Given the description of an element on the screen output the (x, y) to click on. 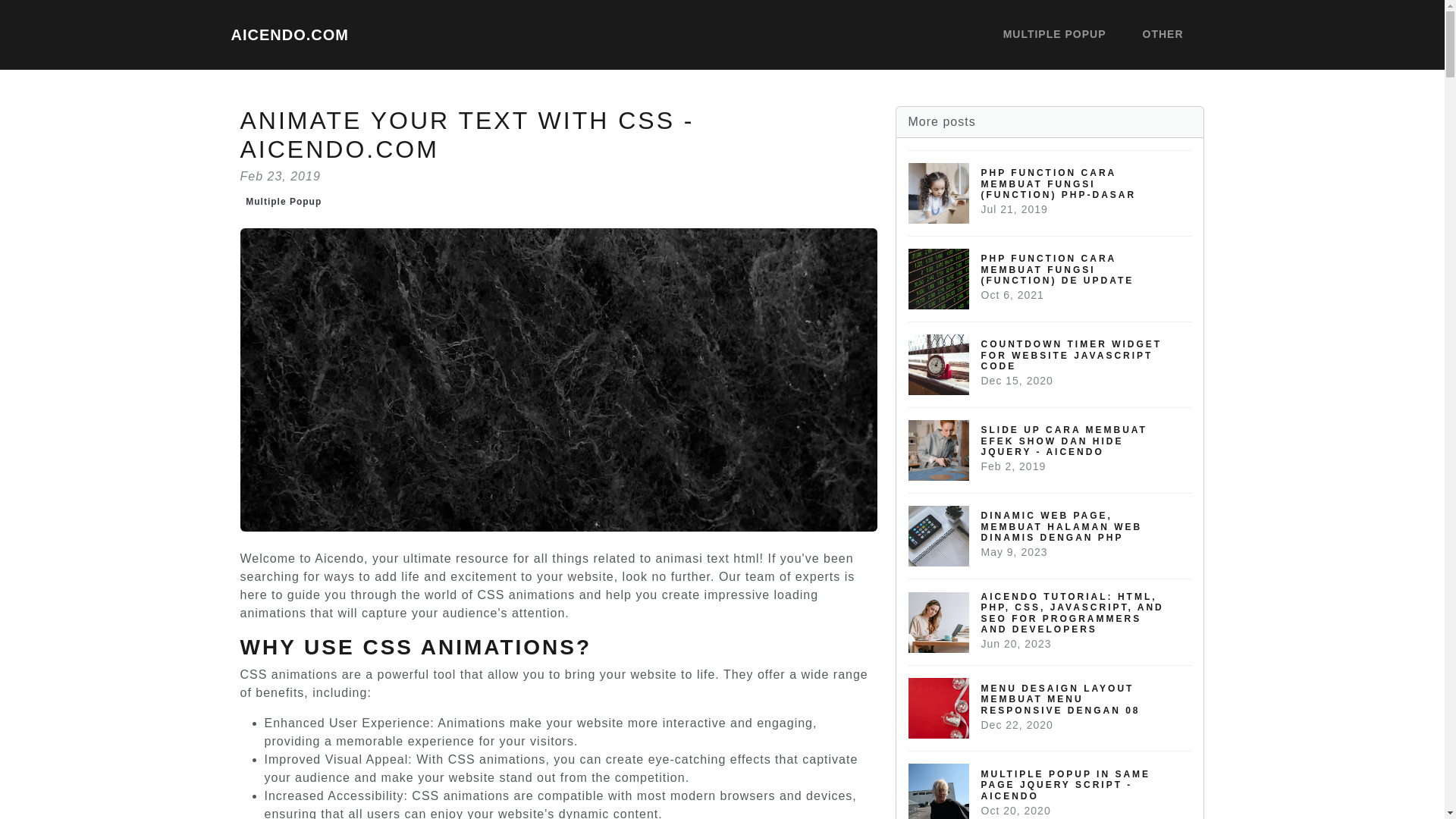
AICENDO.COM (288, 34)
OTHER (1162, 34)
Multiple Popup (283, 201)
MULTIPLE POPUP (1054, 34)
